Given the description of an element on the screen output the (x, y) to click on. 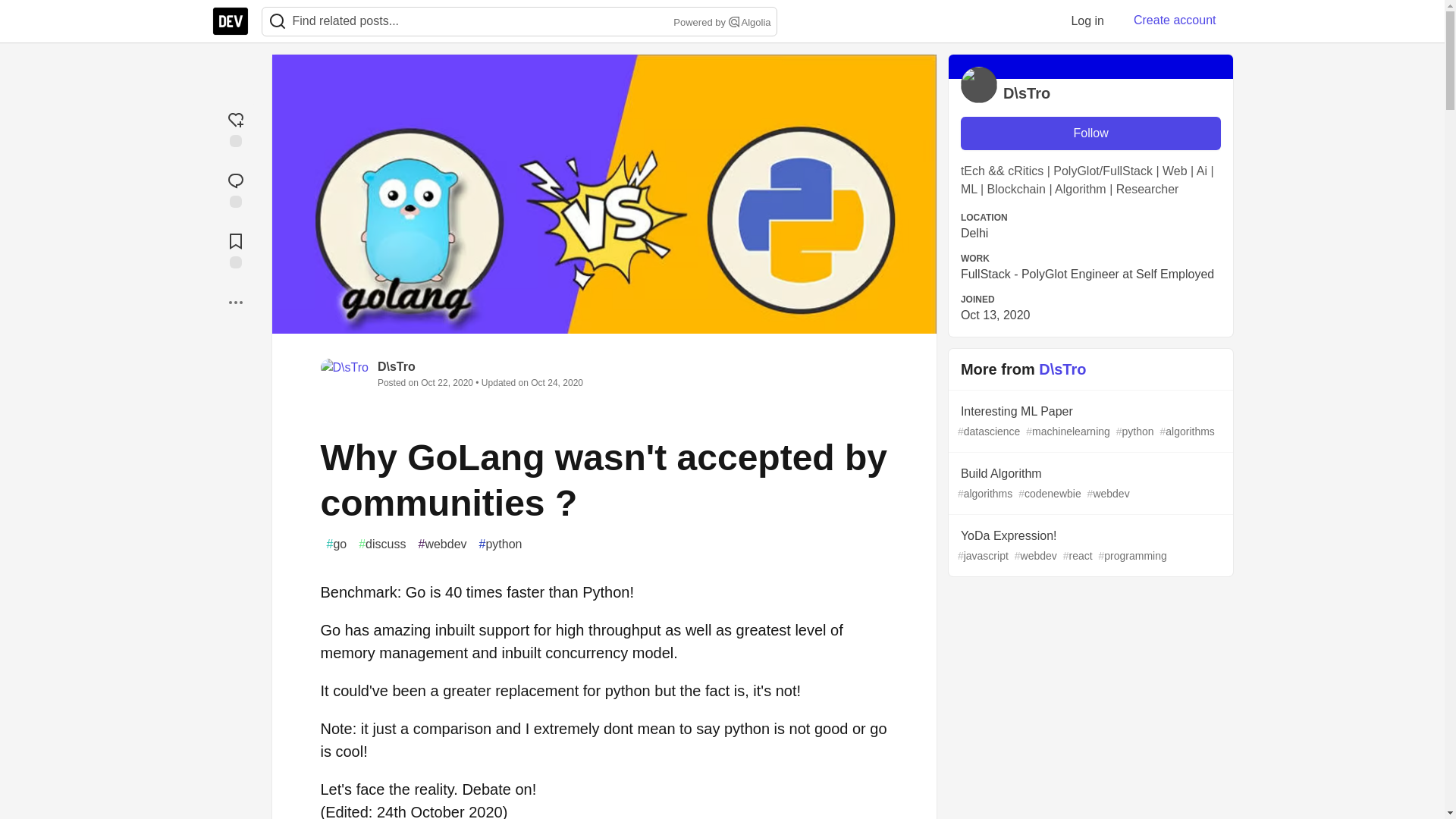
Create account (1174, 20)
More... (234, 302)
More... (234, 302)
Search (734, 21)
Search (277, 21)
Log in (1087, 20)
Search (276, 21)
Powered by Search Algolia (720, 22)
